Given the description of an element on the screen output the (x, y) to click on. 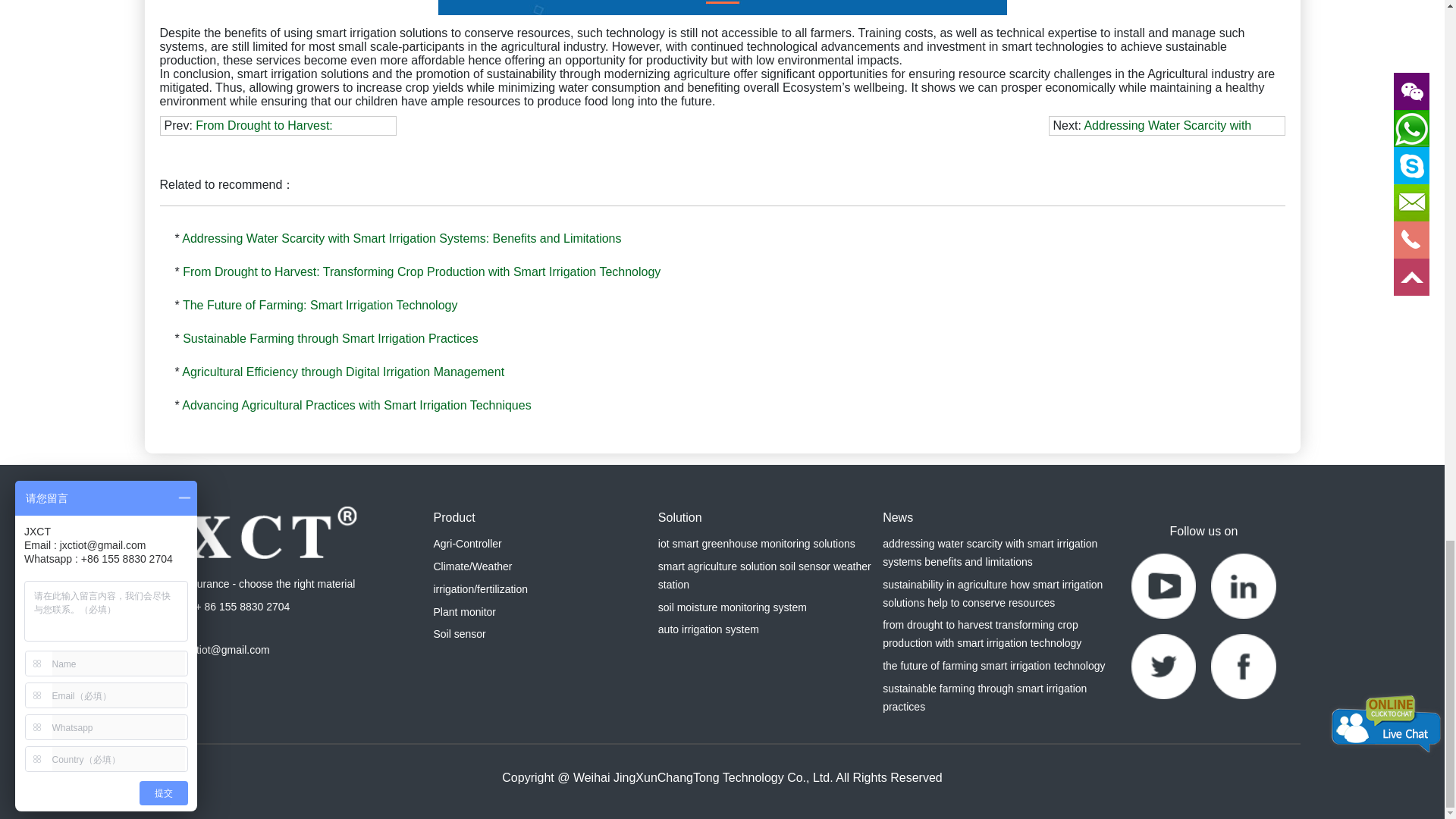
The Future of Farming: Smart Irrigation Technology (320, 305)
Sustainable Farming through Smart Irrigation Practices (331, 338)
